Given the description of an element on the screen output the (x, y) to click on. 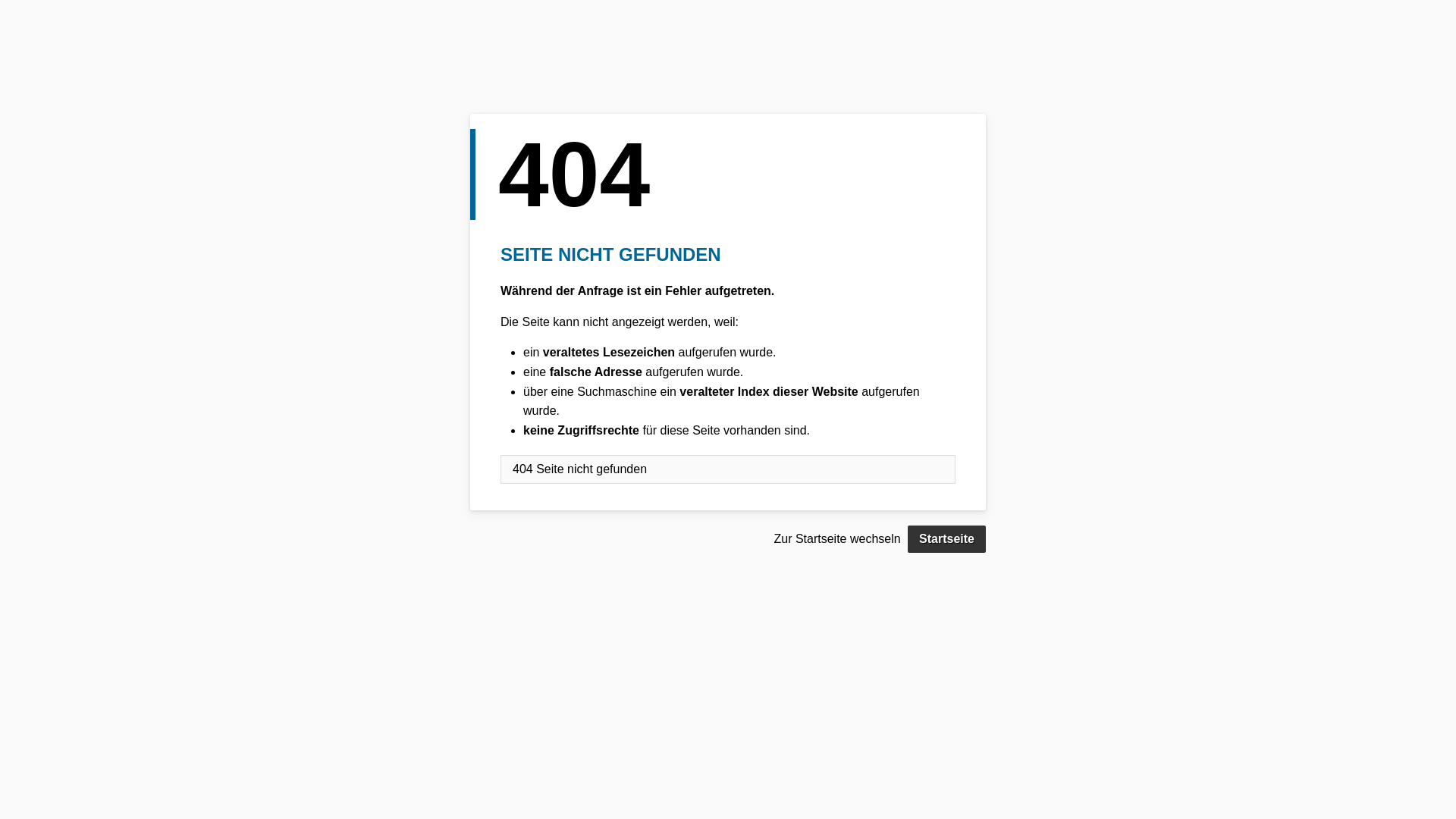
Startseite Element type: text (946, 538)
